Given the description of an element on the screen output the (x, y) to click on. 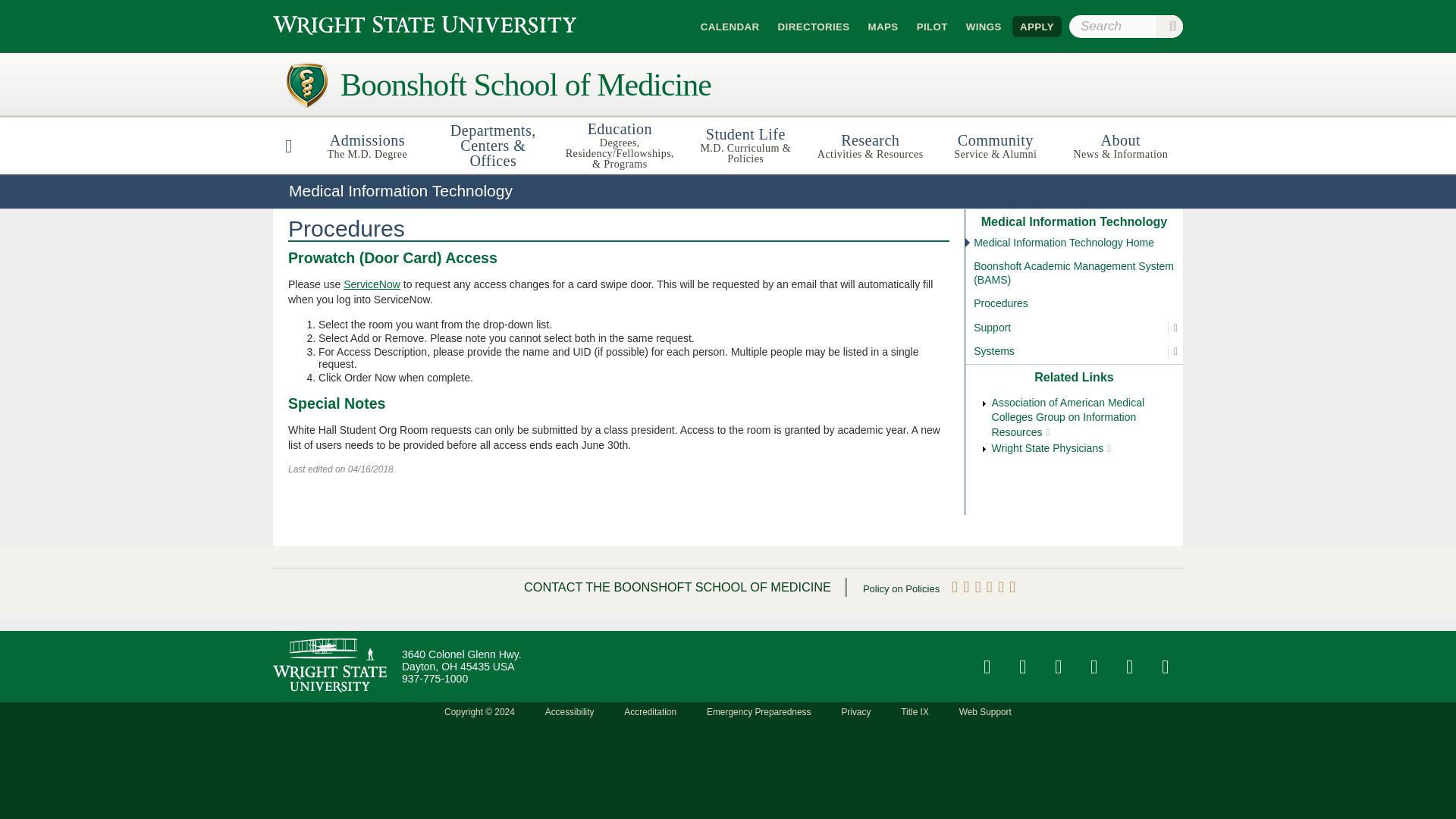
Enter the terms you wish to search for. (1125, 26)
Search (1169, 26)
Boonshoft School of Medicine (498, 85)
WINGS (983, 25)
Wright State University (424, 23)
PILOT (367, 144)
DIRECTORIES (931, 25)
Search (813, 25)
Medical Information Technology Home (1169, 26)
CALENDAR (1073, 242)
Home (730, 25)
Go to Wright State University home page (288, 144)
MAPS (424, 23)
